Given the description of an element on the screen output the (x, y) to click on. 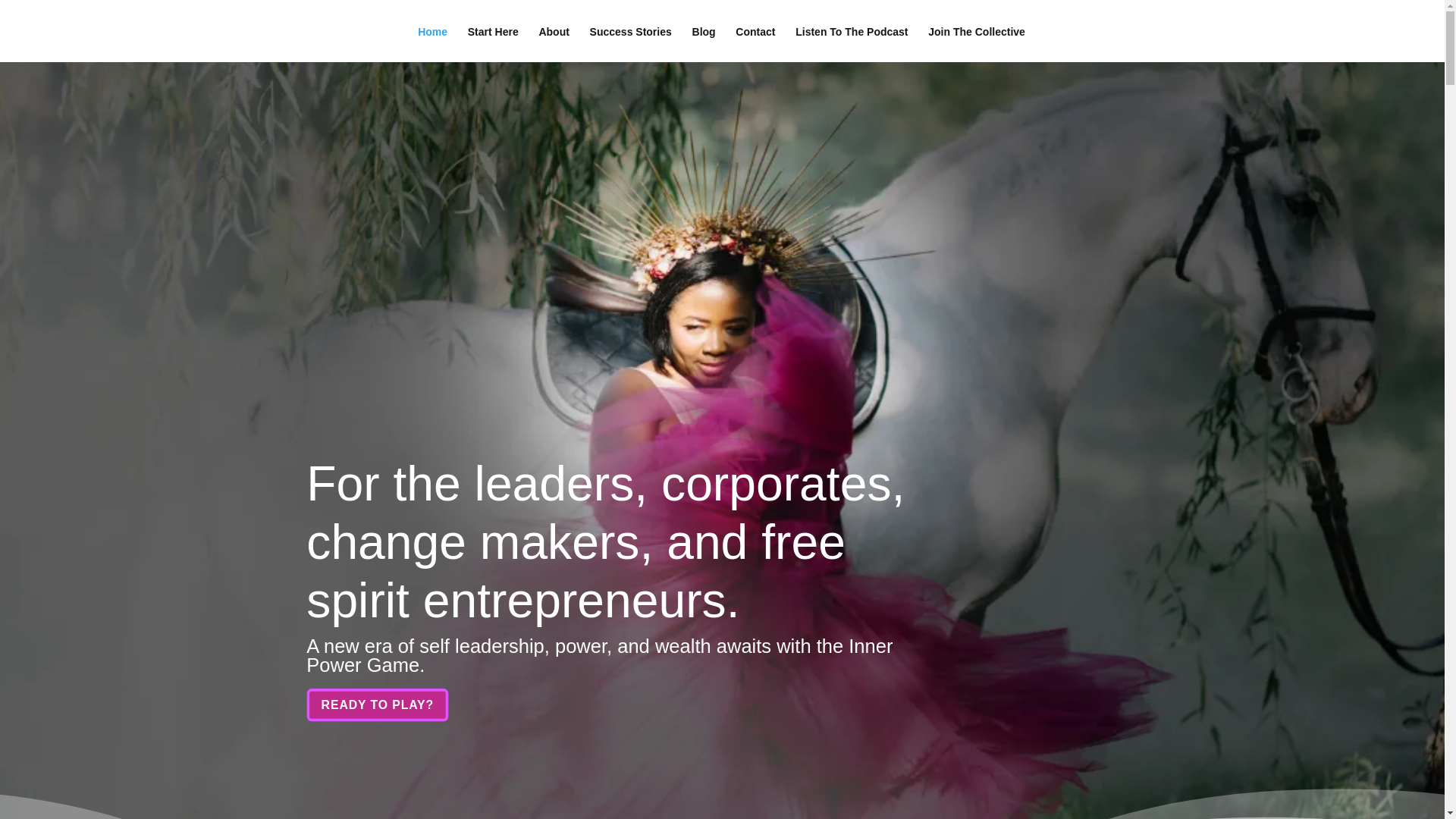
Listen To The Podcast (850, 44)
Join The Collective (976, 44)
READY TO PLAY? (386, 706)
Contact (754, 44)
Success Stories (630, 44)
Start Here (492, 44)
